Given the description of an element on the screen output the (x, y) to click on. 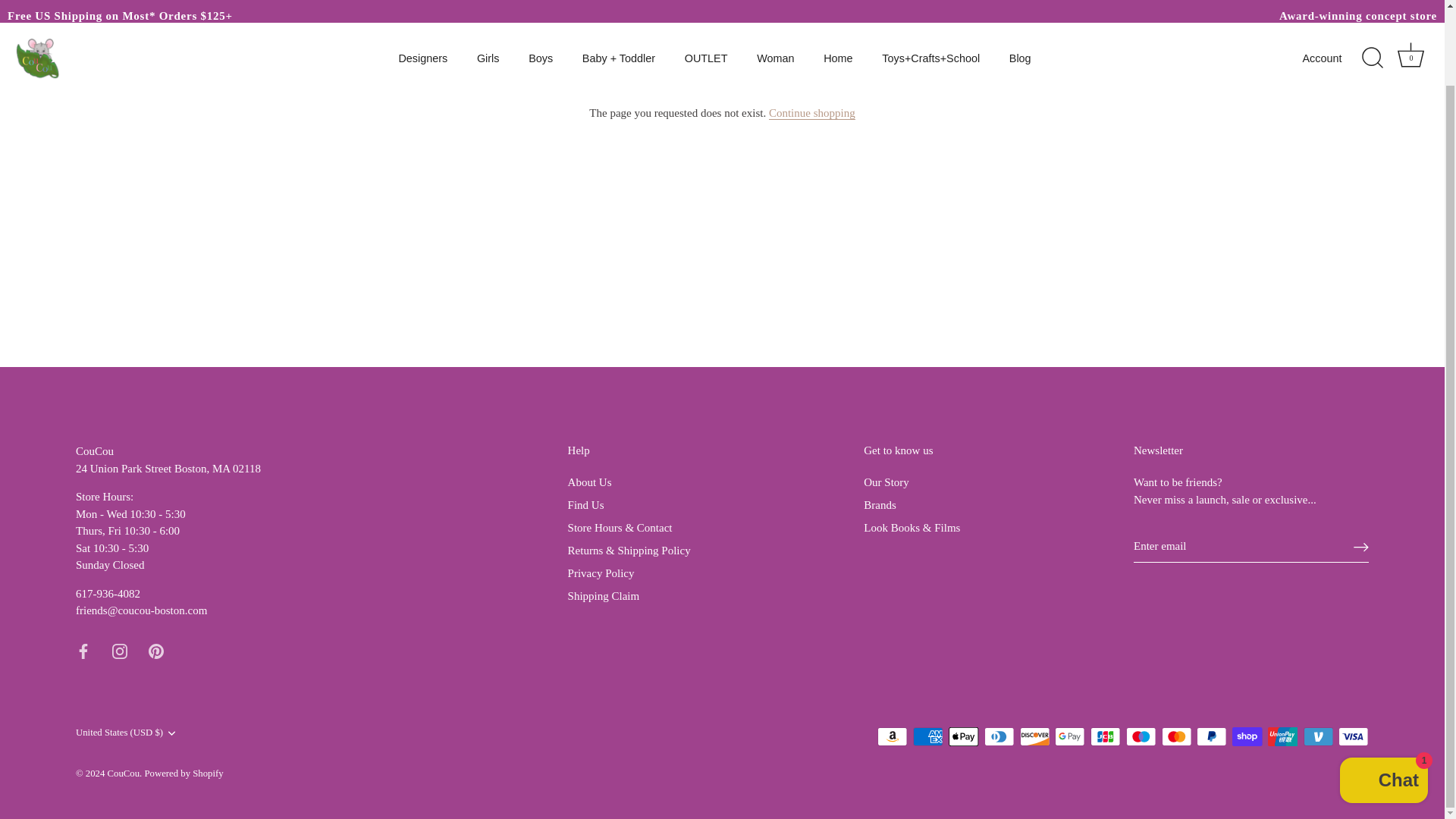
Instagram (120, 651)
Right arrow long (1361, 546)
Mastercard (1176, 736)
Visa (1353, 736)
Apple Pay (963, 736)
Diners Club (999, 736)
Union Pay (1282, 736)
PayPal (1210, 736)
American Express (927, 736)
Maestro (1140, 736)
JCB (1105, 736)
Venmo (1318, 736)
Google Pay (1069, 736)
Shopify online store chat (1383, 697)
Shop Pay (1246, 736)
